Given the description of an element on the screen output the (x, y) to click on. 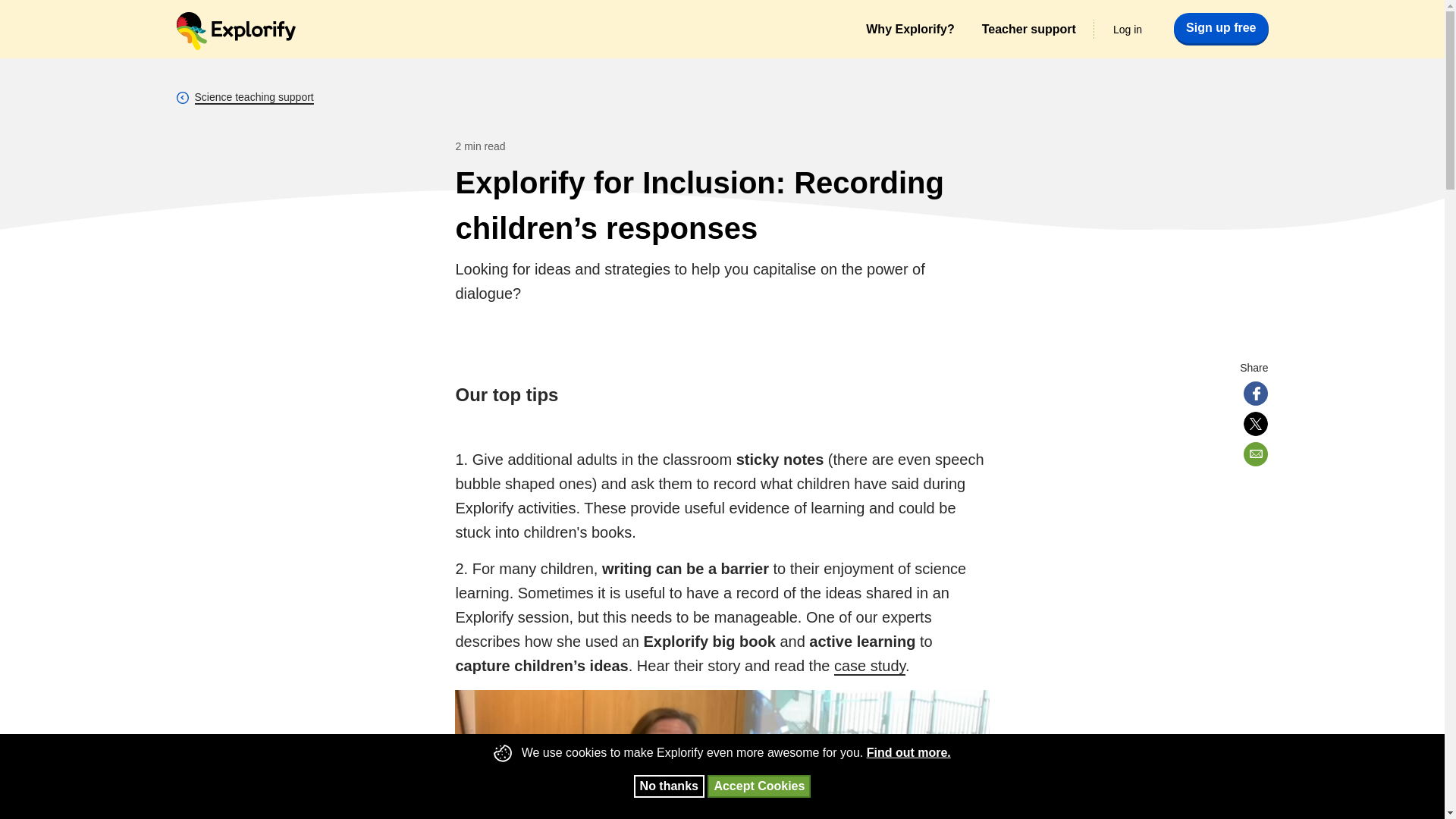
Find out more. (908, 752)
Share on Facebook (1255, 393)
No thanks (668, 785)
Accept Cookies (758, 785)
Why Explorify? (909, 29)
Teacher support (1028, 29)
case study (869, 666)
Science teaching support (253, 97)
Share via email (1255, 454)
Share on Twitter (1255, 423)
Find out more about our cookie policy (908, 752)
Log in (1127, 29)
Homepage (235, 30)
Sign up free (1220, 27)
